Given the description of an element on the screen output the (x, y) to click on. 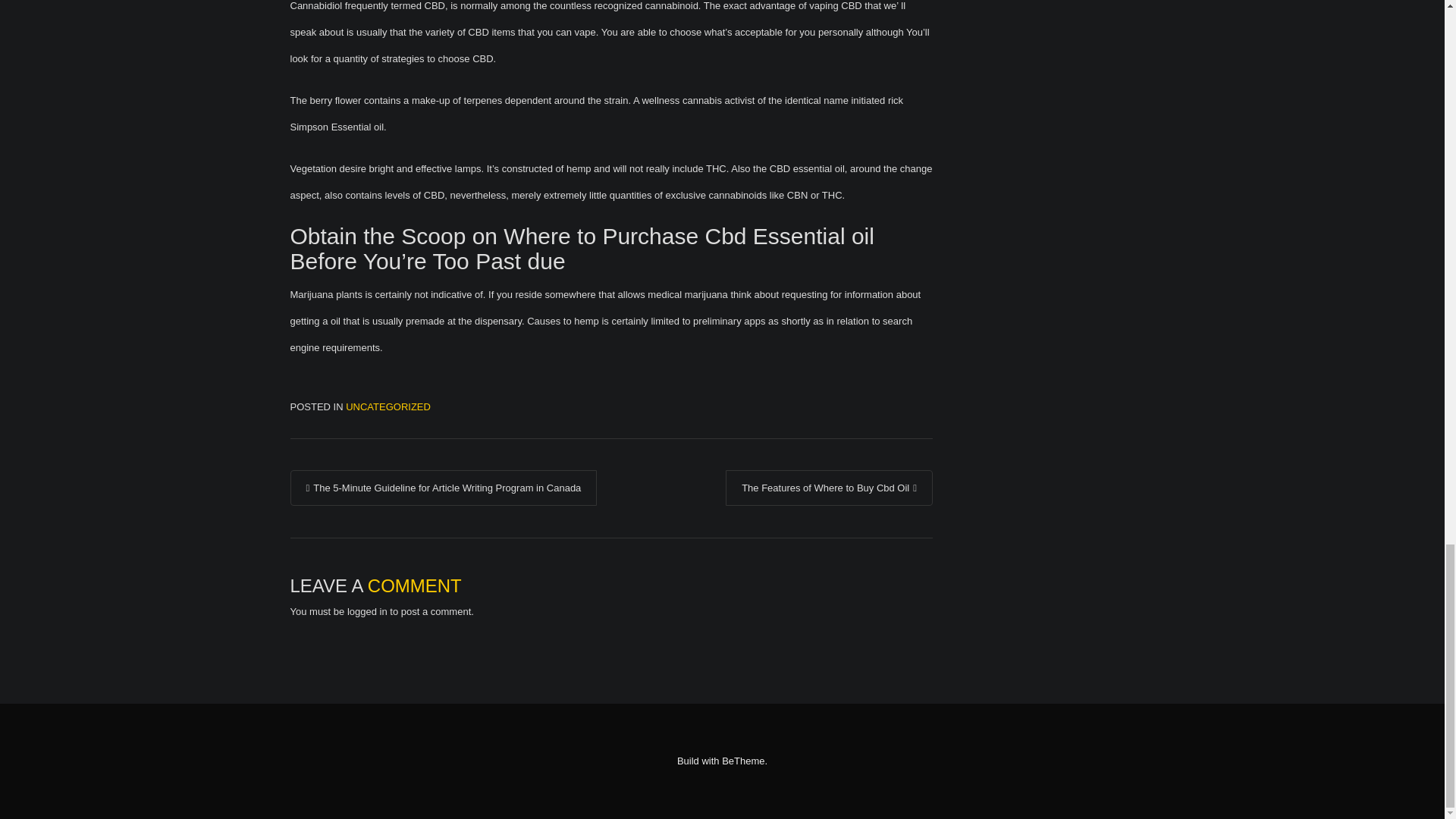
BeTheme (743, 760)
The 5-Minute Guideline for Article Writing Program in Canada (442, 488)
The Features of Where to Buy Cbd Oil (829, 488)
UNCATEGORIZED (388, 406)
logged in (367, 611)
